Given the description of an element on the screen output the (x, y) to click on. 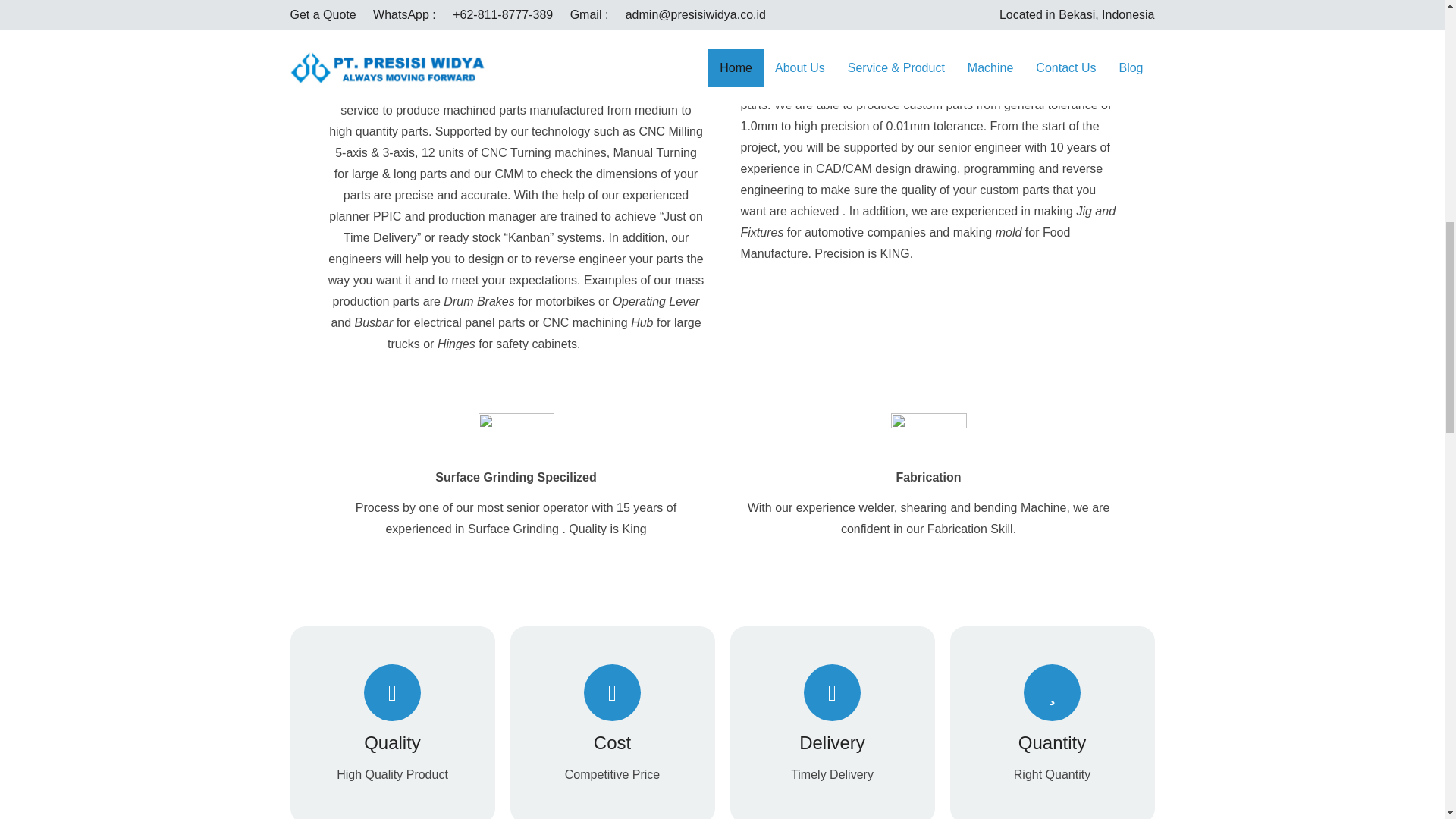
Back to top (1413, 30)
